Given the description of an element on the screen output the (x, y) to click on. 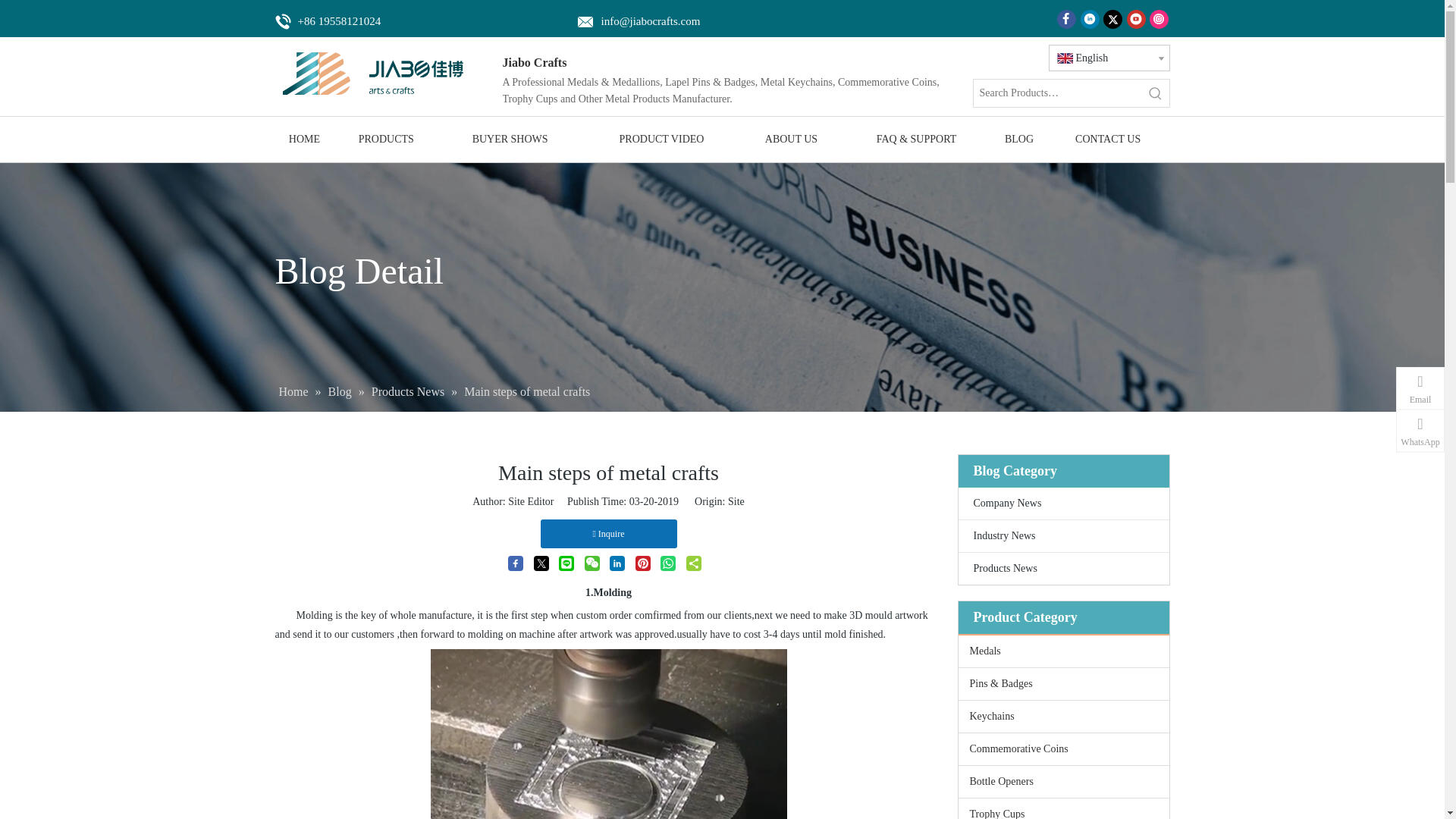
Facebook (1066, 18)
Instagram (1159, 18)
PRODUCTS (385, 139)
Twitter (1112, 18)
BUYER SHOWS (509, 139)
molding (609, 733)
Youtube (1135, 18)
HOME (304, 139)
PRODUCT VIDEO (660, 139)
Metal Products Manufacturer (380, 73)
